Given the description of an element on the screen output the (x, y) to click on. 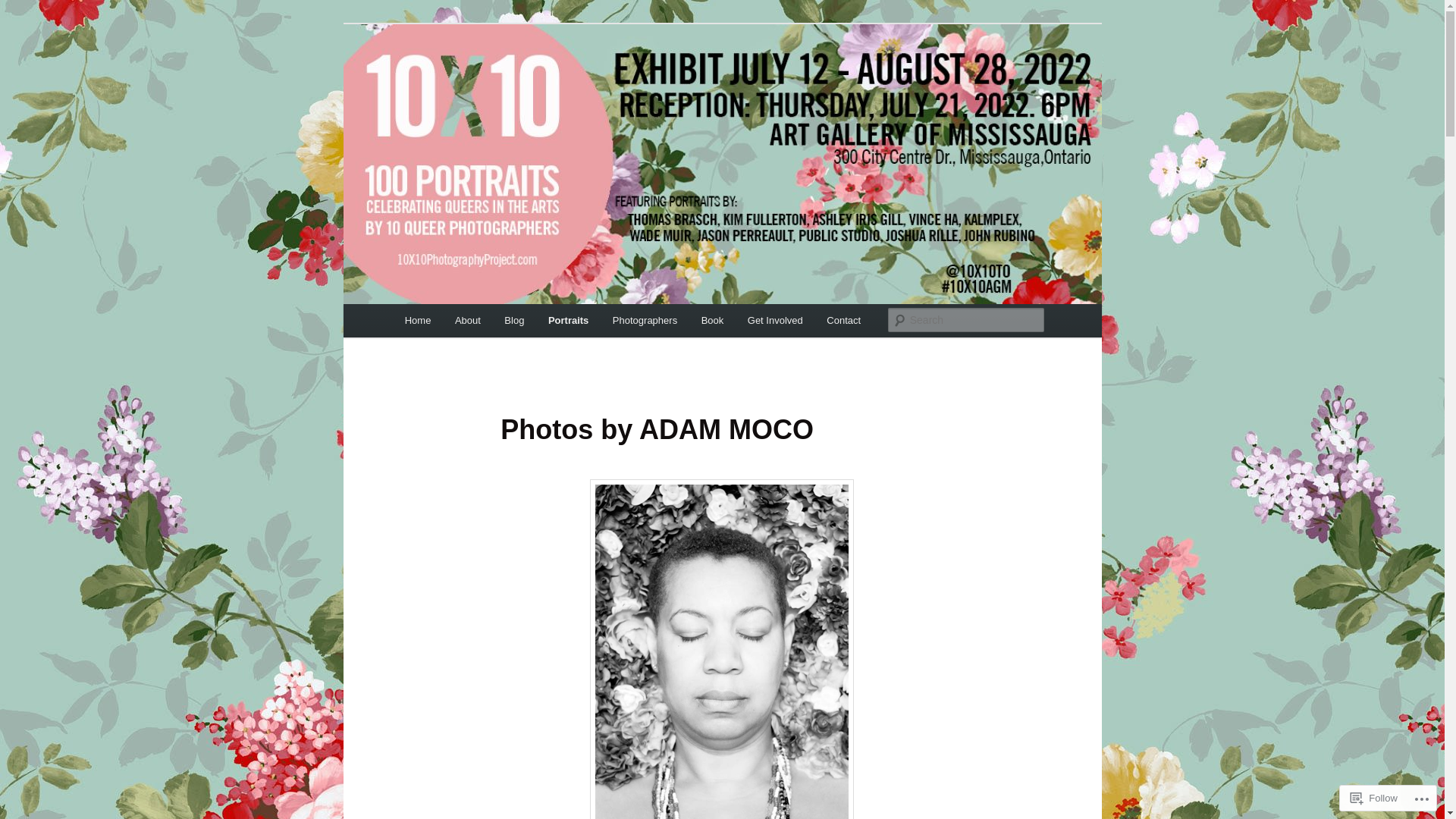
About Element type: text (467, 320)
Photographers Element type: text (644, 320)
Contact Element type: text (843, 320)
Home Element type: text (417, 320)
Portraits Element type: text (568, 320)
Search Element type: text (24, 8)
Follow Element type: text (1373, 797)
Blog Element type: text (514, 320)
Get Involved Element type: text (775, 320)
10X10 Photography Project Element type: text (548, 78)
Skip to primary content Element type: text (22, 22)
Book Element type: text (712, 320)
